Given the description of an element on the screen output the (x, y) to click on. 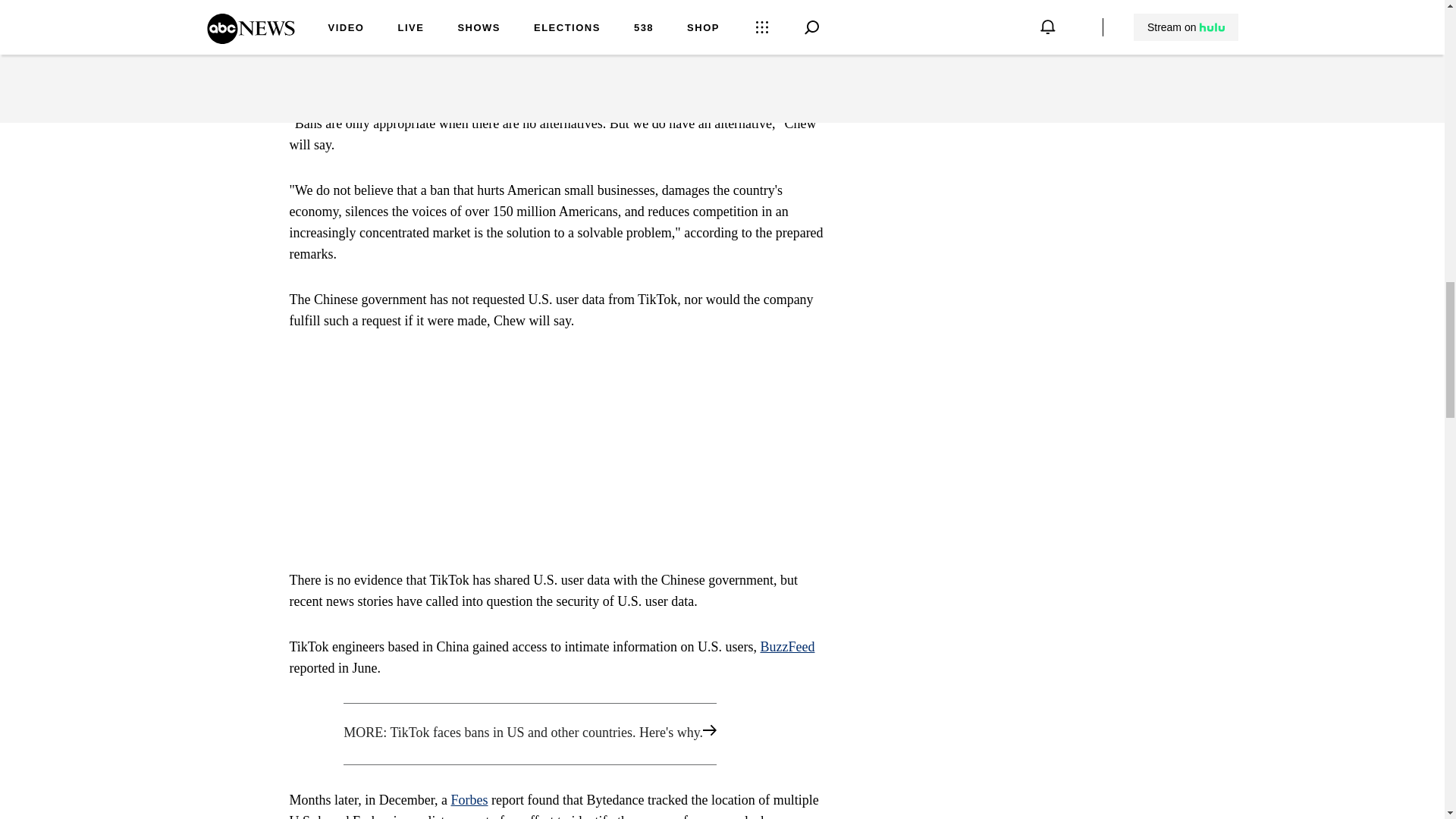
BuzzFeed (786, 646)
Forbes (468, 799)
